Given the description of an element on the screen output the (x, y) to click on. 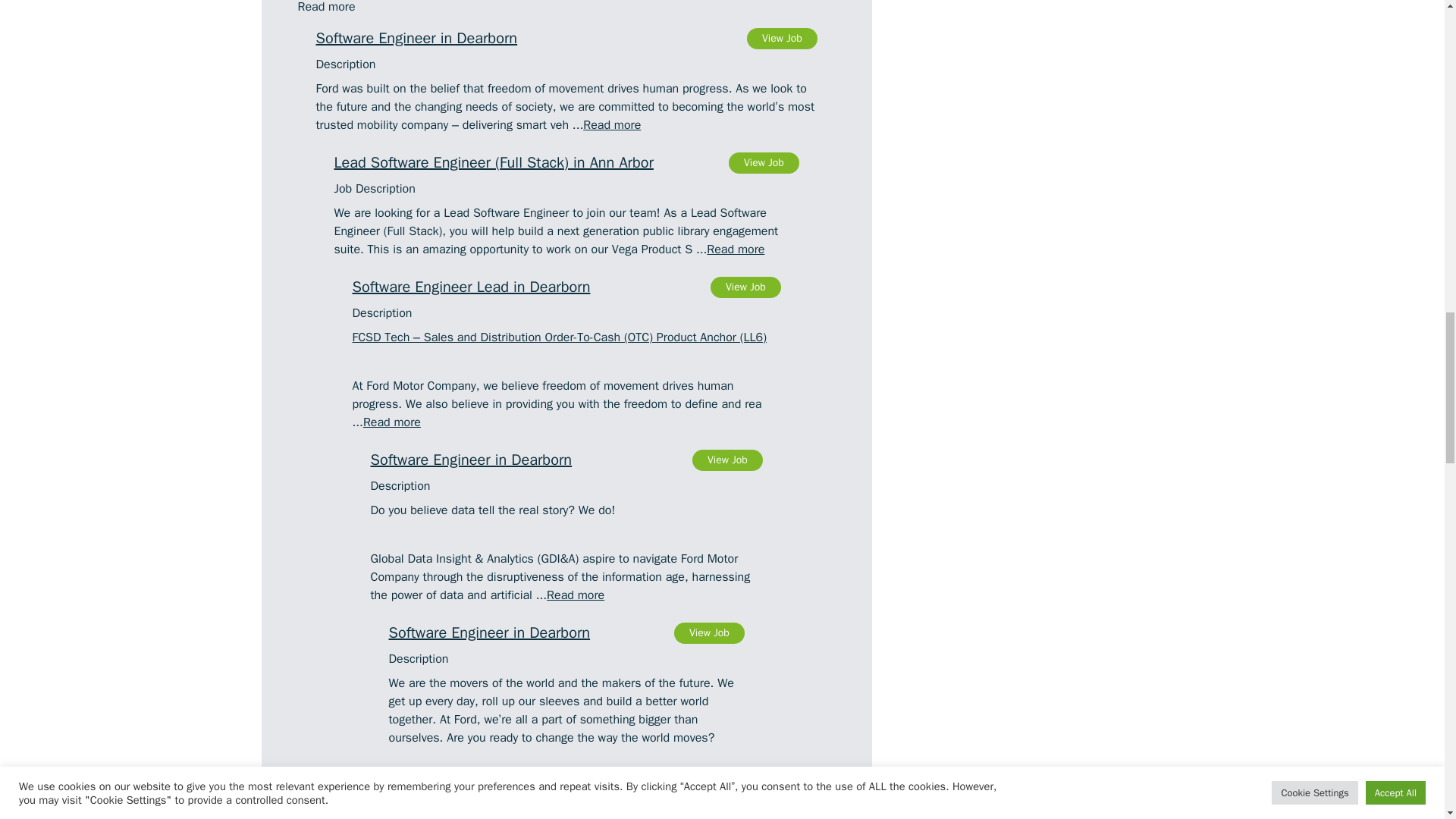
Read more (611, 124)
View Job (745, 287)
View Job (764, 162)
View Job (781, 38)
Read more (391, 421)
Read more (566, 287)
